Given the description of an element on the screen output the (x, y) to click on. 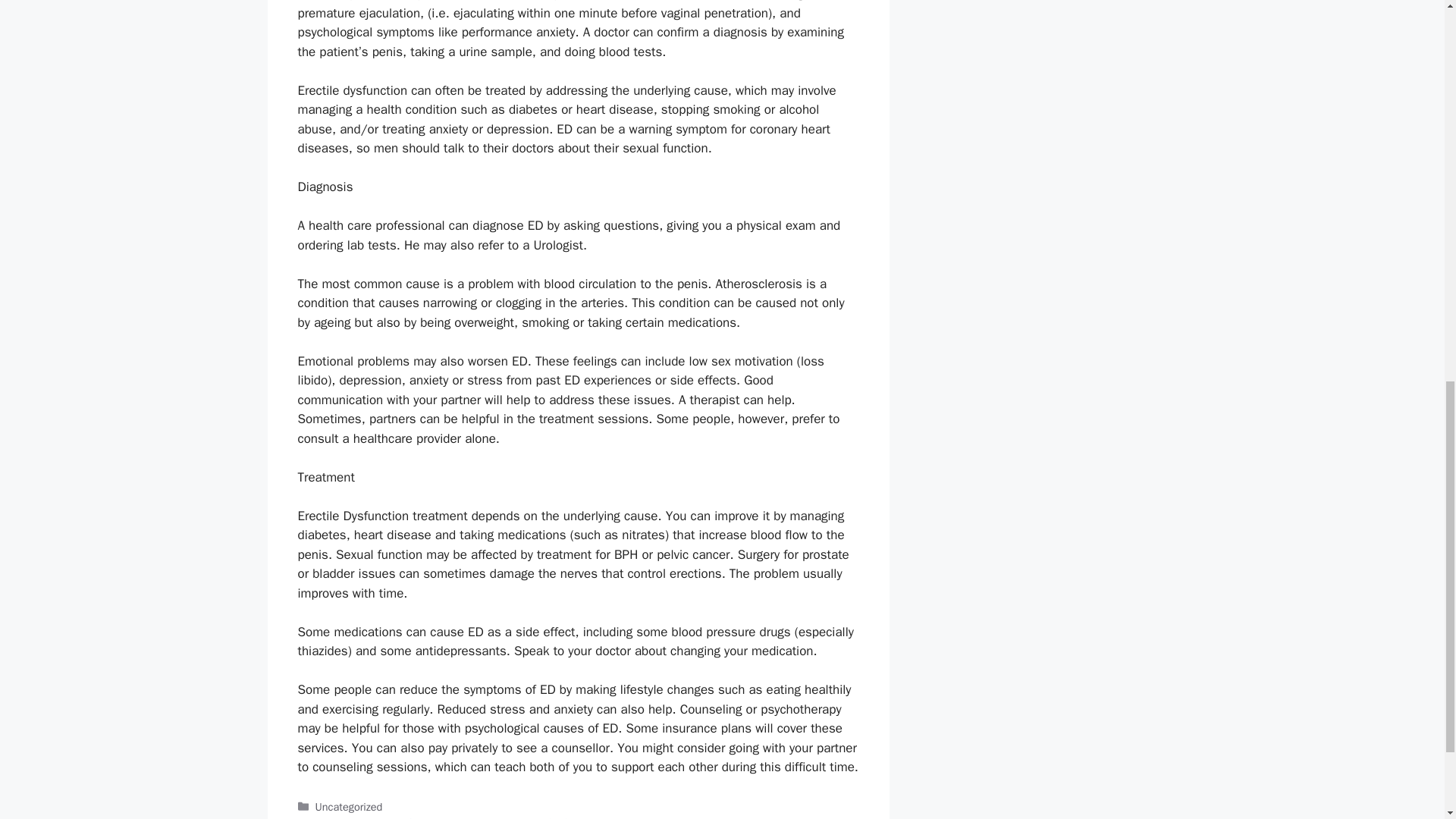
Roman Erectile Dysfunction Drug Advertisement On Subway (457, 817)
